Given the description of an element on the screen output the (x, y) to click on. 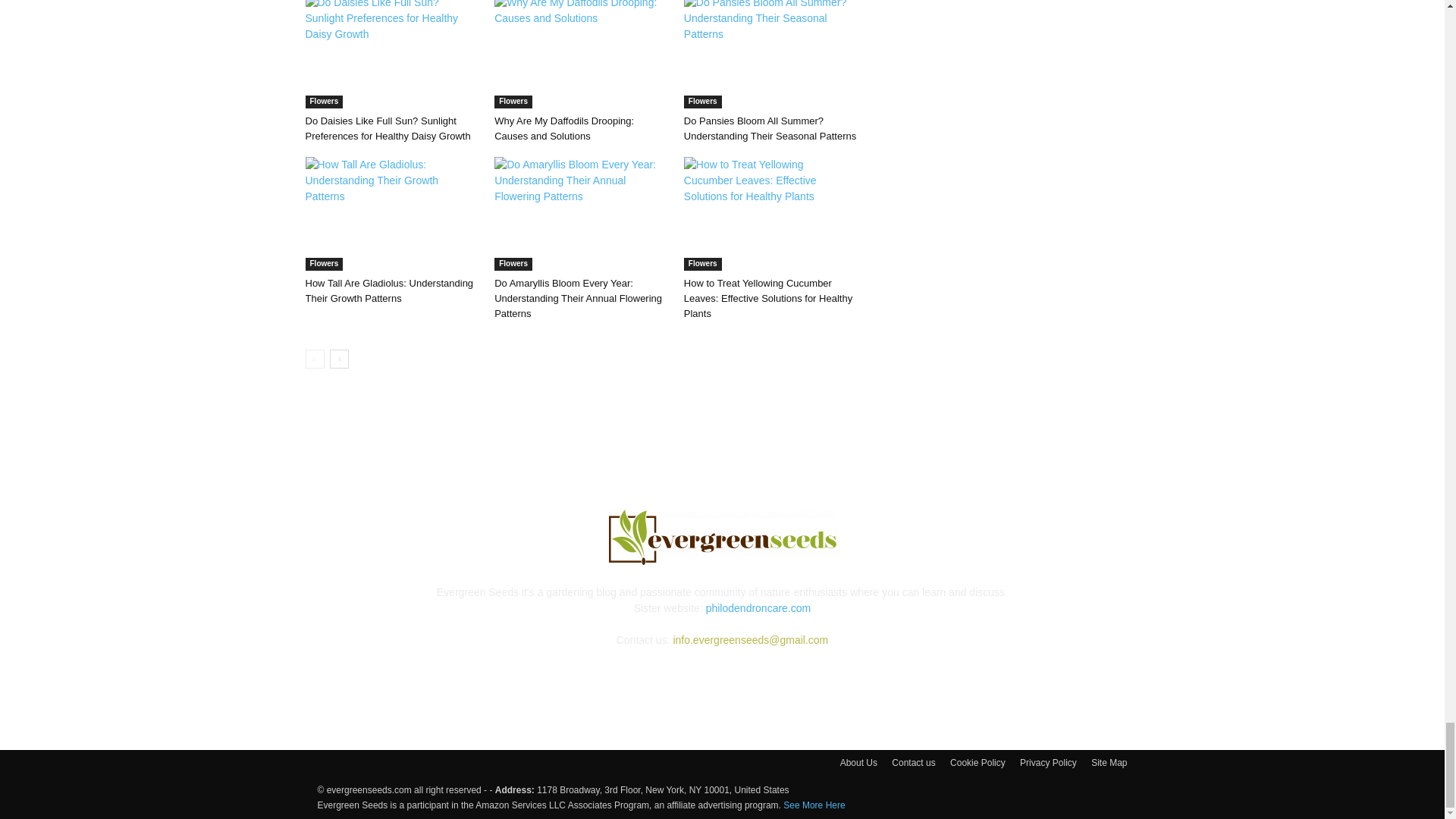
Why Are My Daffodils Drooping: Causes and Solutions (581, 54)
